Given the description of an element on the screen output the (x, y) to click on. 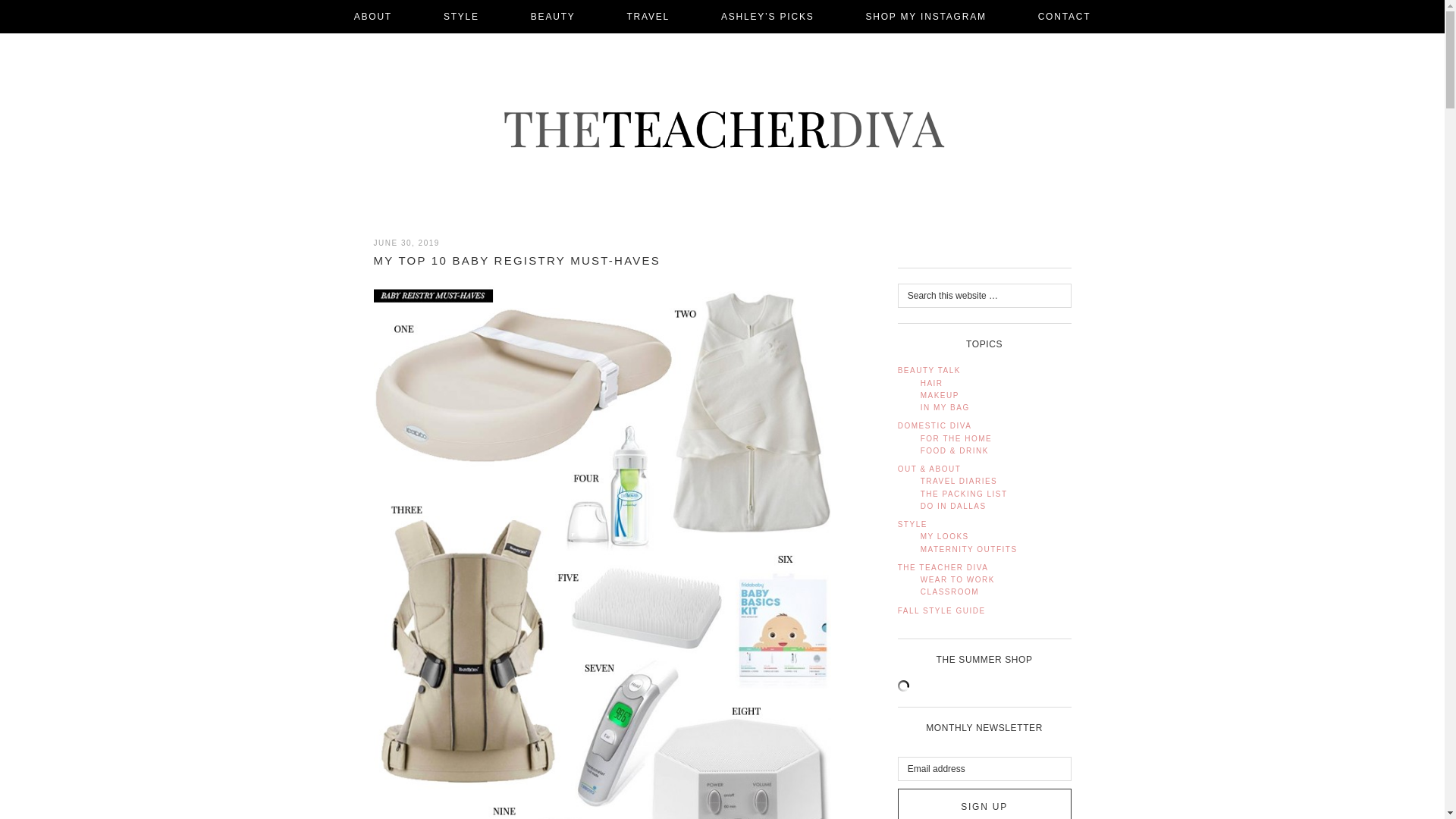
SHOP MY INSTAGRAM (925, 16)
TRAVEL (648, 16)
STYLE (461, 16)
The Teacher Diva (722, 128)
Sign up (984, 803)
ABOUT (373, 16)
BEAUTY (552, 16)
The Teacher Diva (721, 128)
CONTACT (1064, 16)
